Given the description of an element on the screen output the (x, y) to click on. 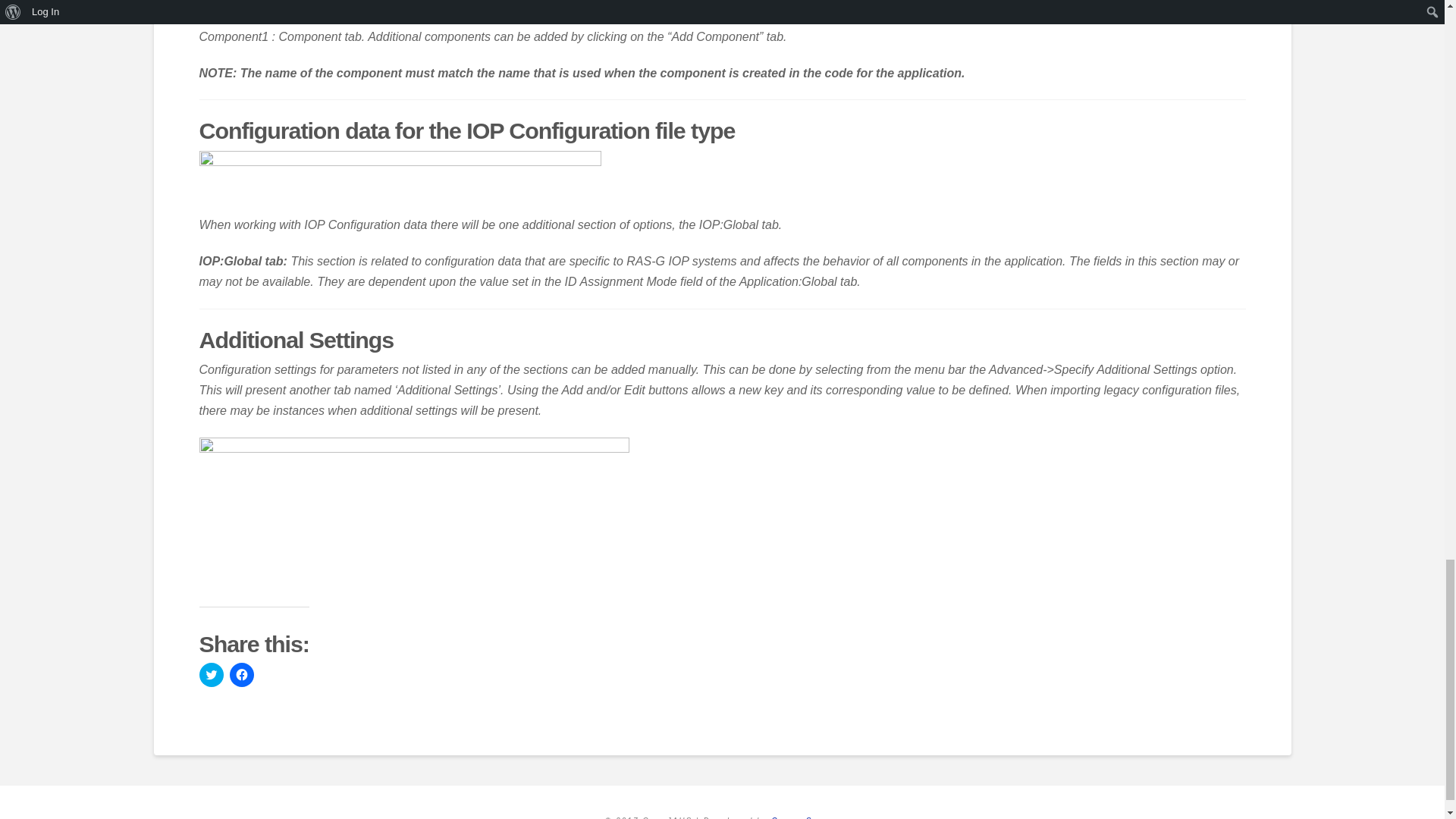
Click to share on Twitter (210, 674)
Click to share on Facebook (240, 674)
